Given the description of an element on the screen output the (x, y) to click on. 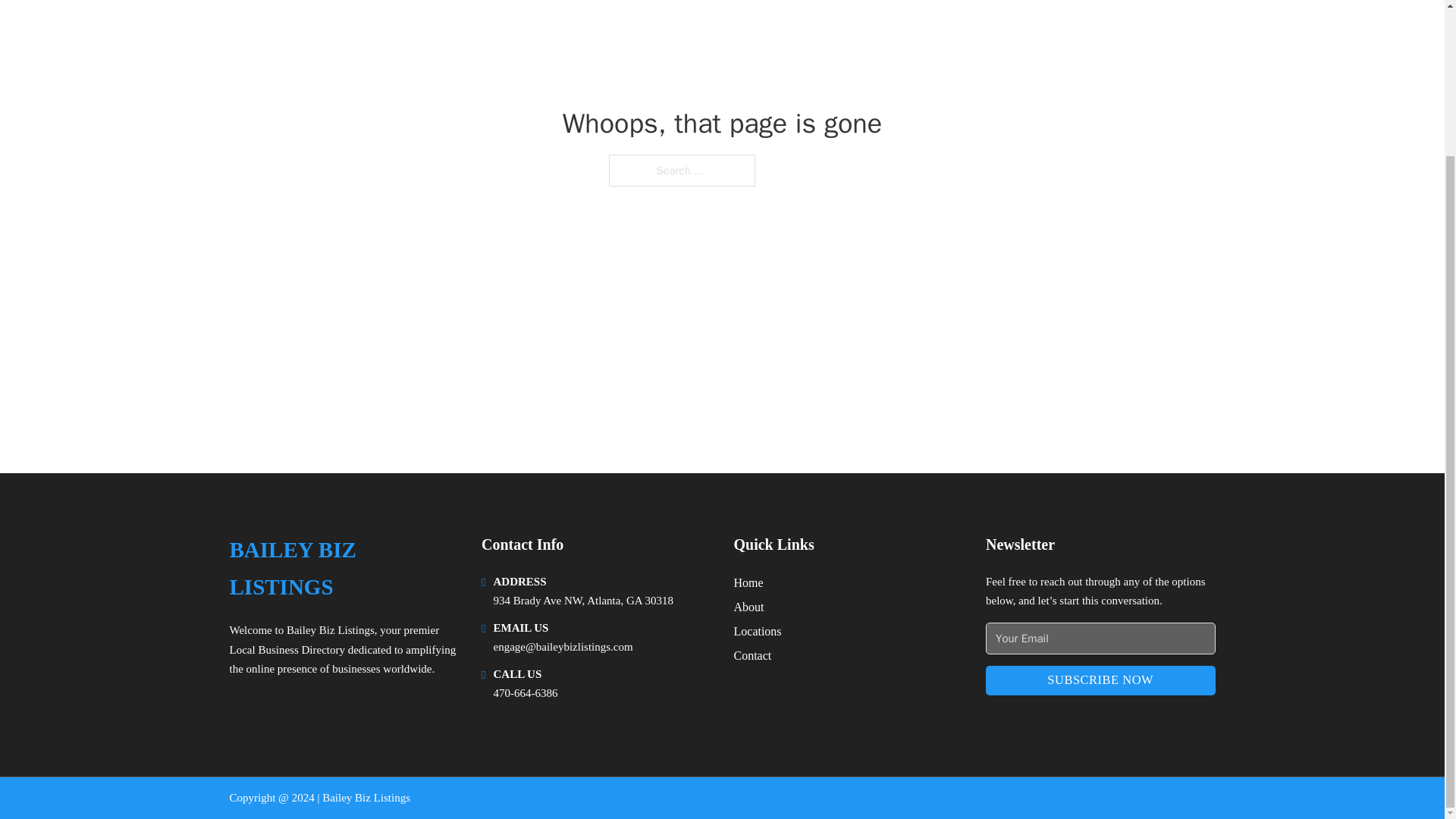
Contact (752, 655)
470-664-6386 (525, 693)
About (748, 607)
SUBSCRIBE NOW (1100, 680)
Locations (757, 630)
BAILEY BIZ LISTINGS (343, 568)
Home (747, 582)
